Given the description of an element on the screen output the (x, y) to click on. 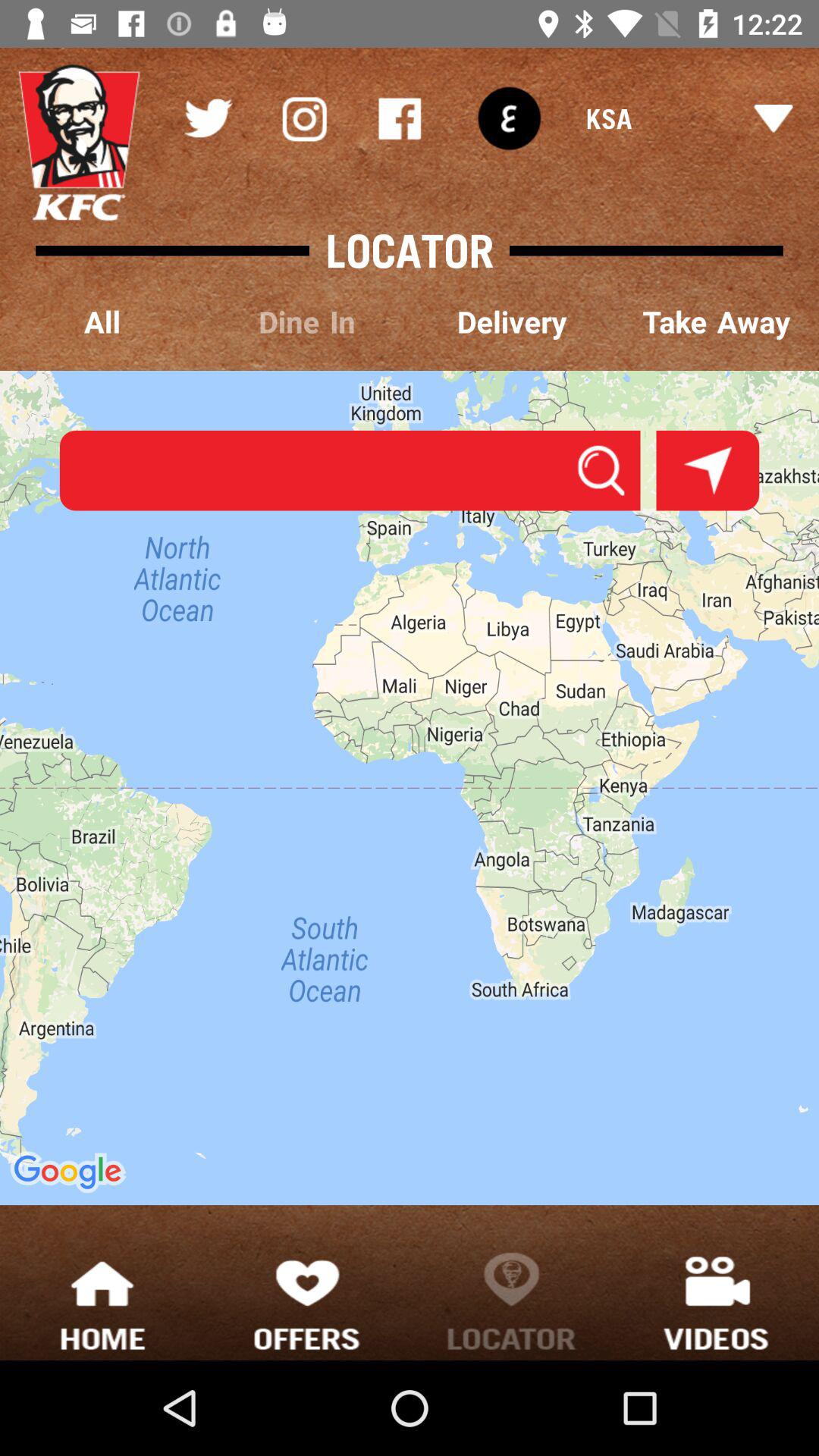
choose the item next to the delivery icon (306, 322)
